Given the description of an element on the screen output the (x, y) to click on. 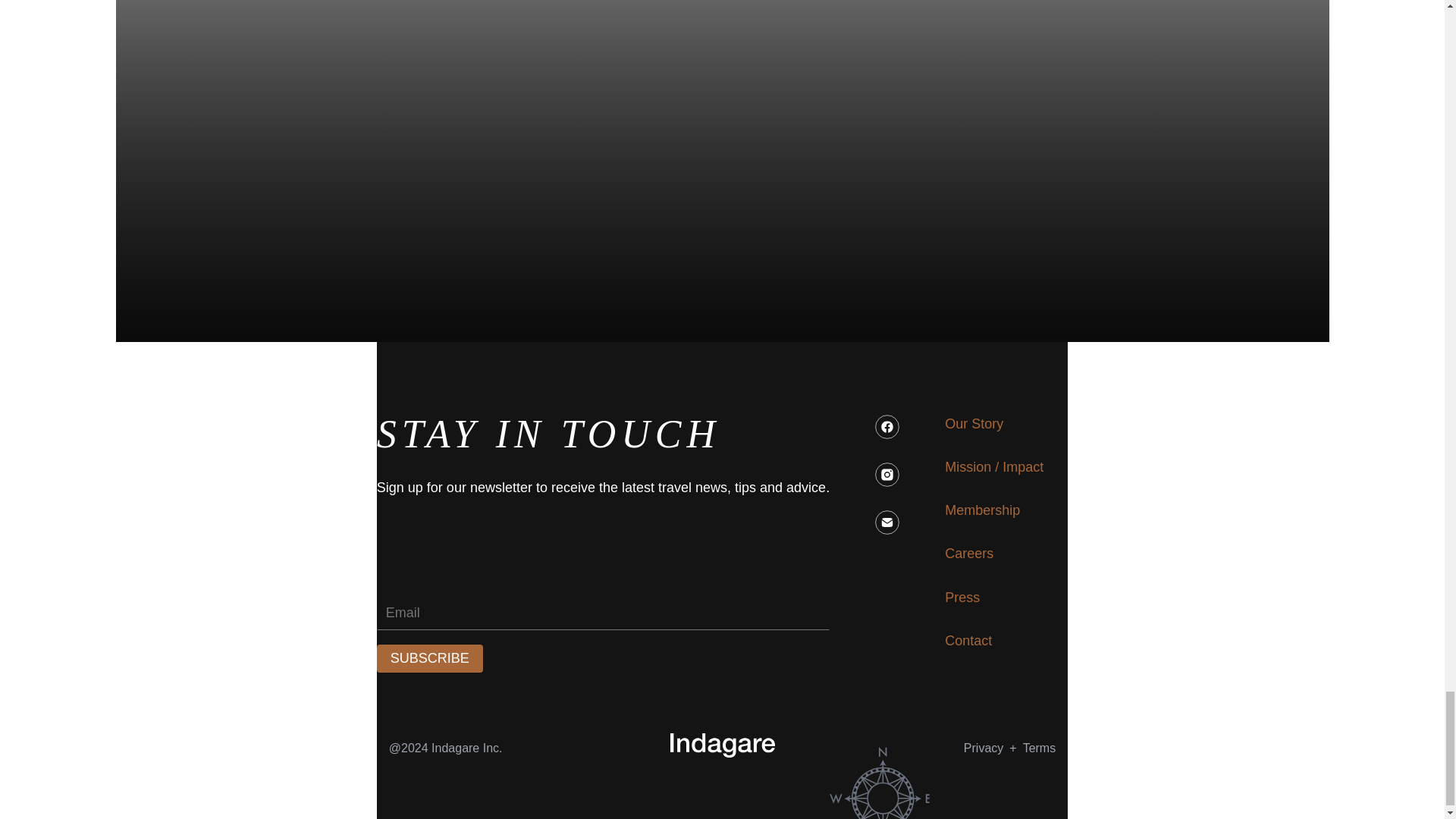
Contact (967, 640)
Press (961, 597)
Our Story (973, 424)
SUBSCRIBE (983, 747)
Terms (430, 658)
Careers (1040, 747)
Membership (968, 553)
